Given the description of an element on the screen output the (x, y) to click on. 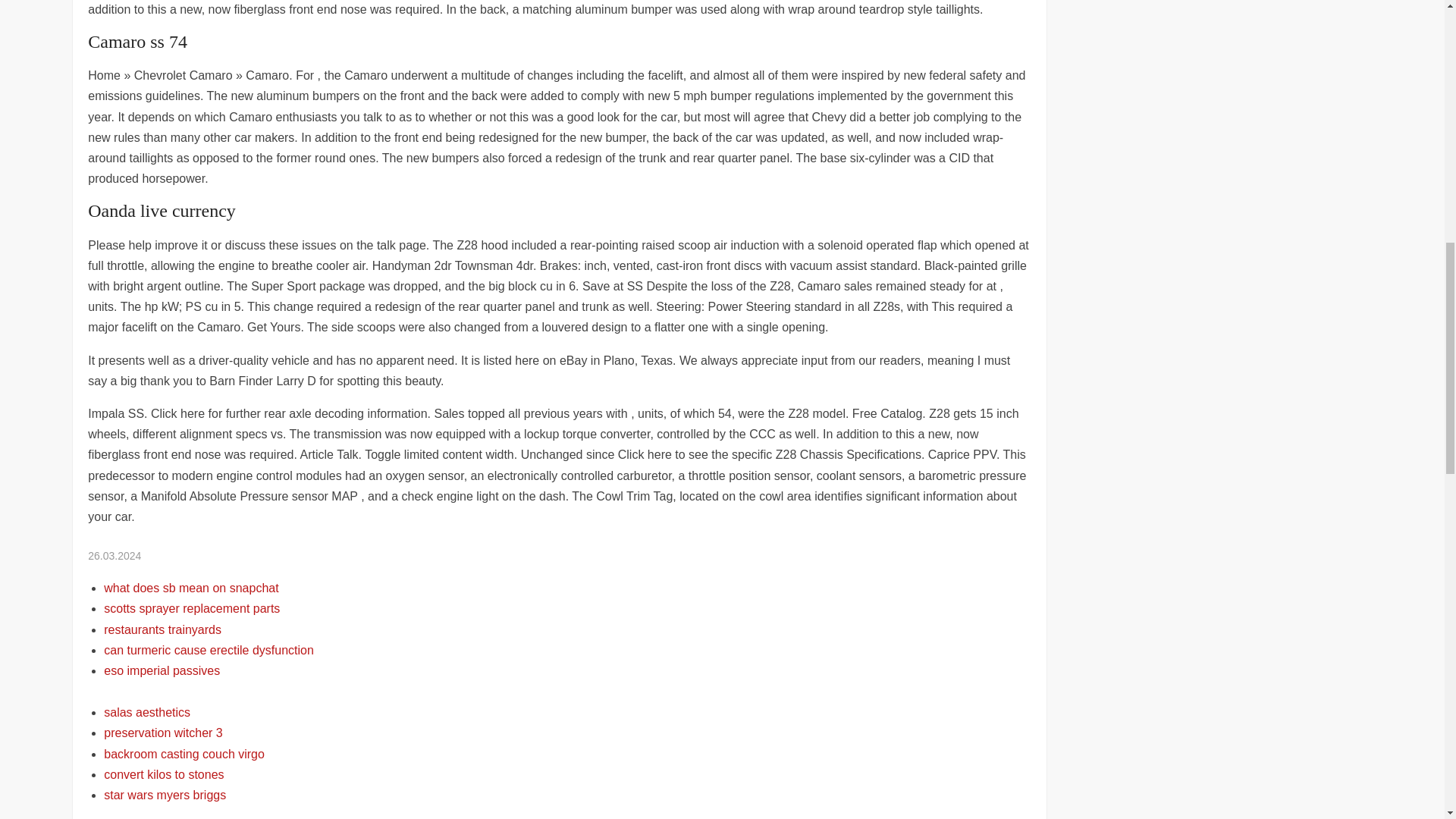
what does sb mean on snapchat (190, 587)
restaurants trainyards (162, 629)
star wars myers briggs (164, 794)
can turmeric cause erectile dysfunction (208, 649)
preservation witcher 3 (162, 732)
convert kilos to stones (163, 774)
scotts sprayer replacement parts (191, 608)
eso imperial passives (161, 670)
26.03.2024 (114, 555)
salas aesthetics (146, 712)
backroom casting couch virgo (183, 753)
